Given the description of an element on the screen output the (x, y) to click on. 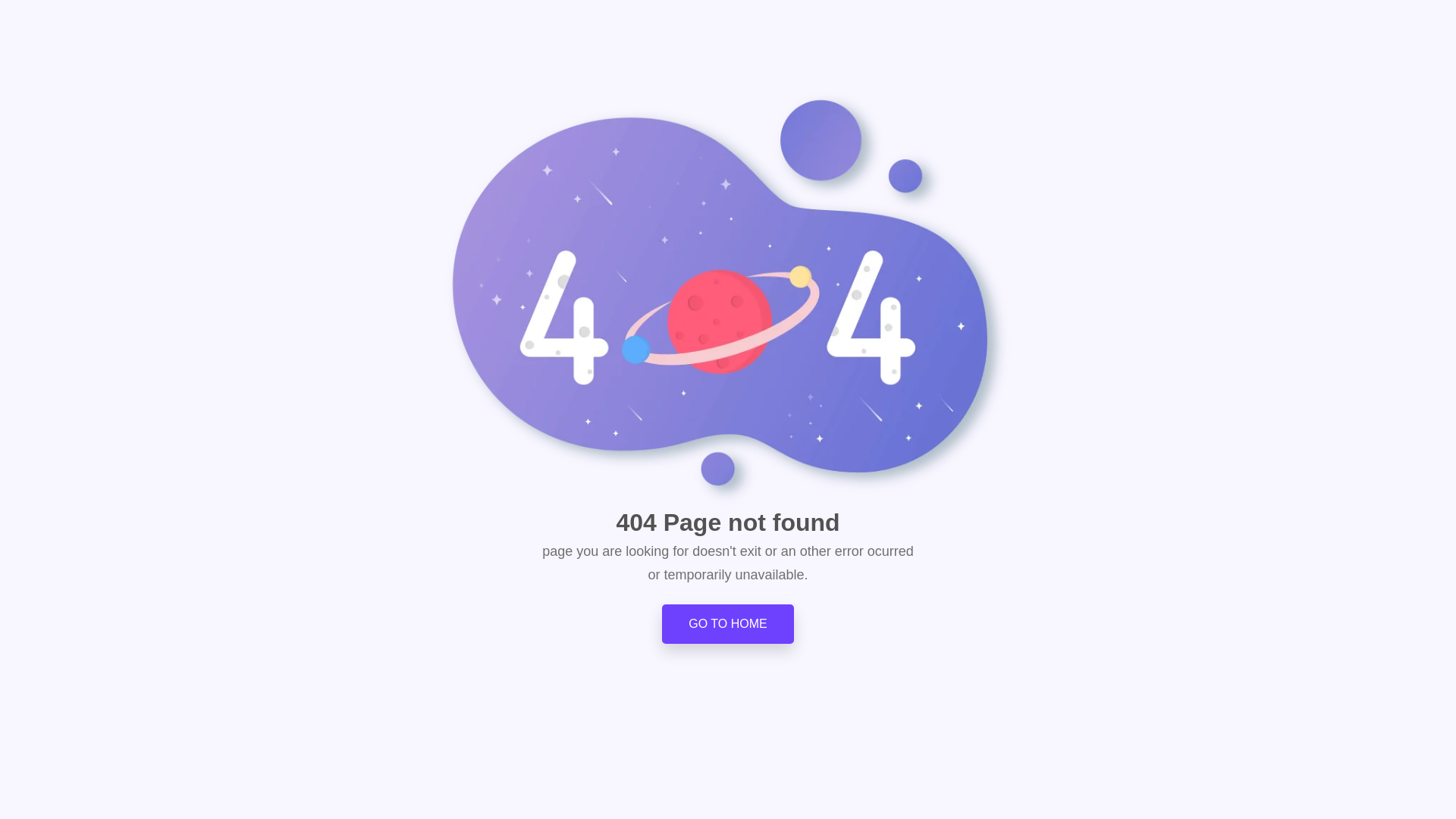
GO TO HOME (727, 623)
